Given the description of an element on the screen output the (x, y) to click on. 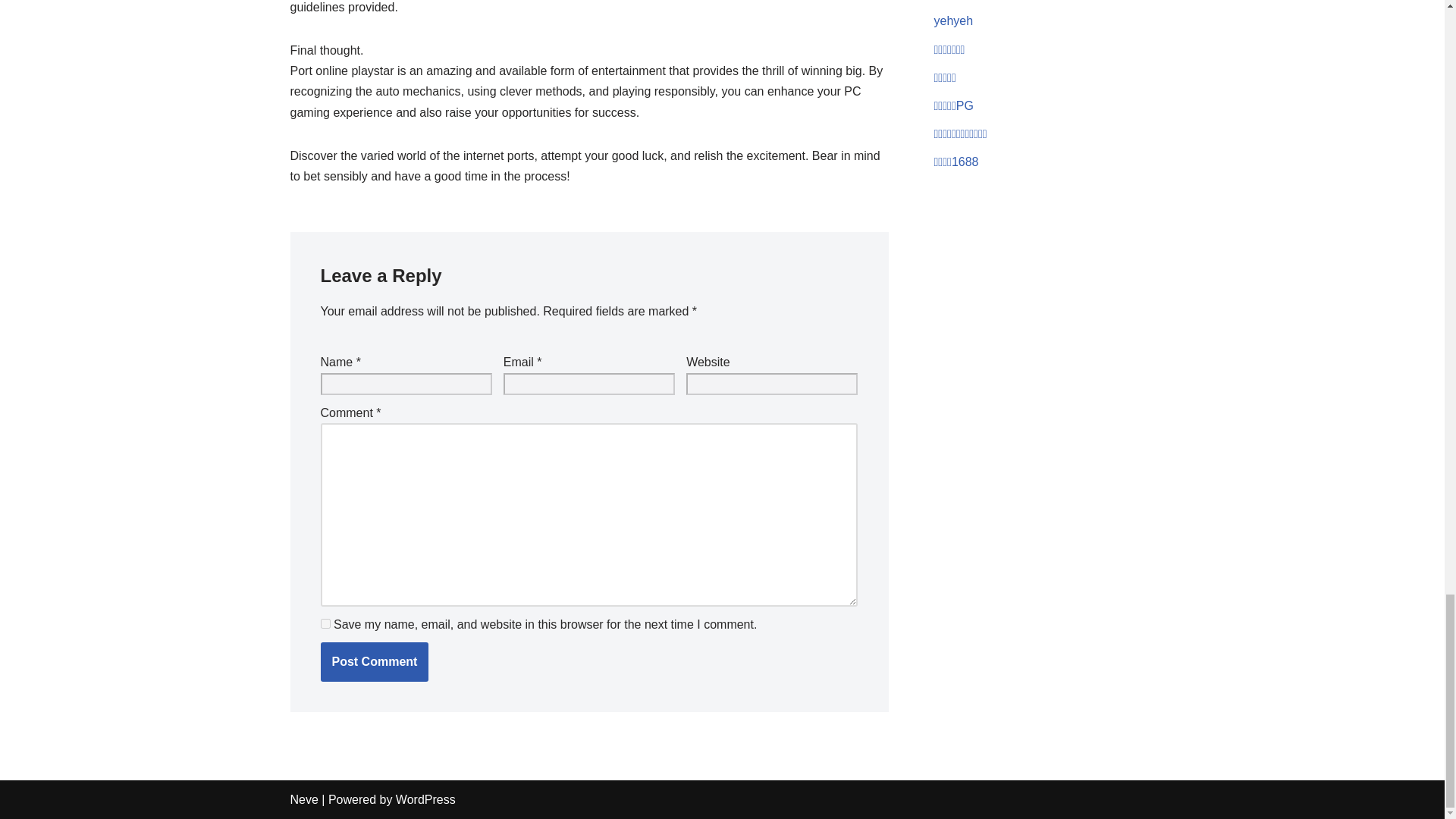
Post Comment (374, 661)
Post Comment (374, 661)
yes (325, 623)
